Given the description of an element on the screen output the (x, y) to click on. 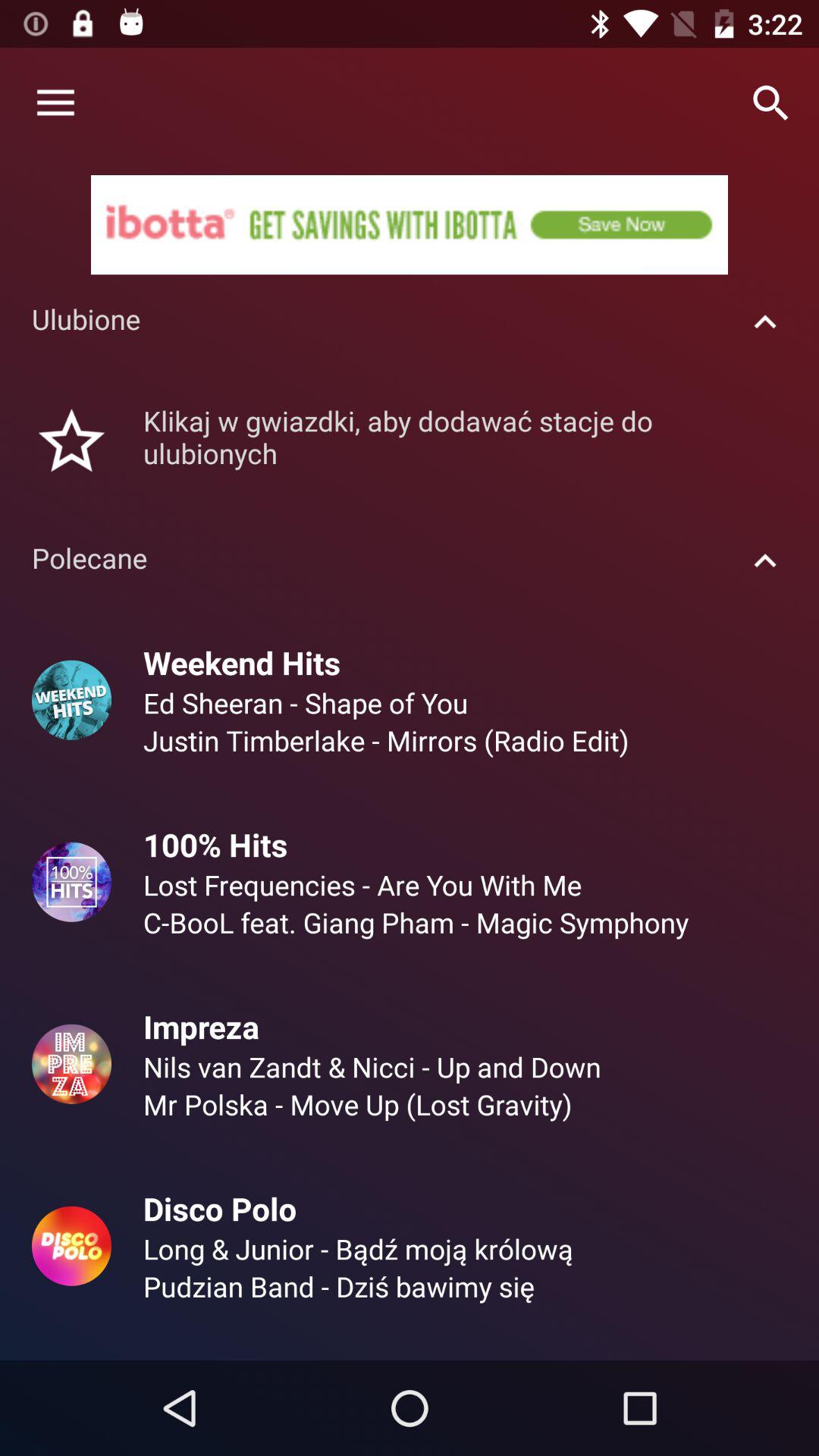
click save now (409, 224)
